Given the description of an element on the screen output the (x, y) to click on. 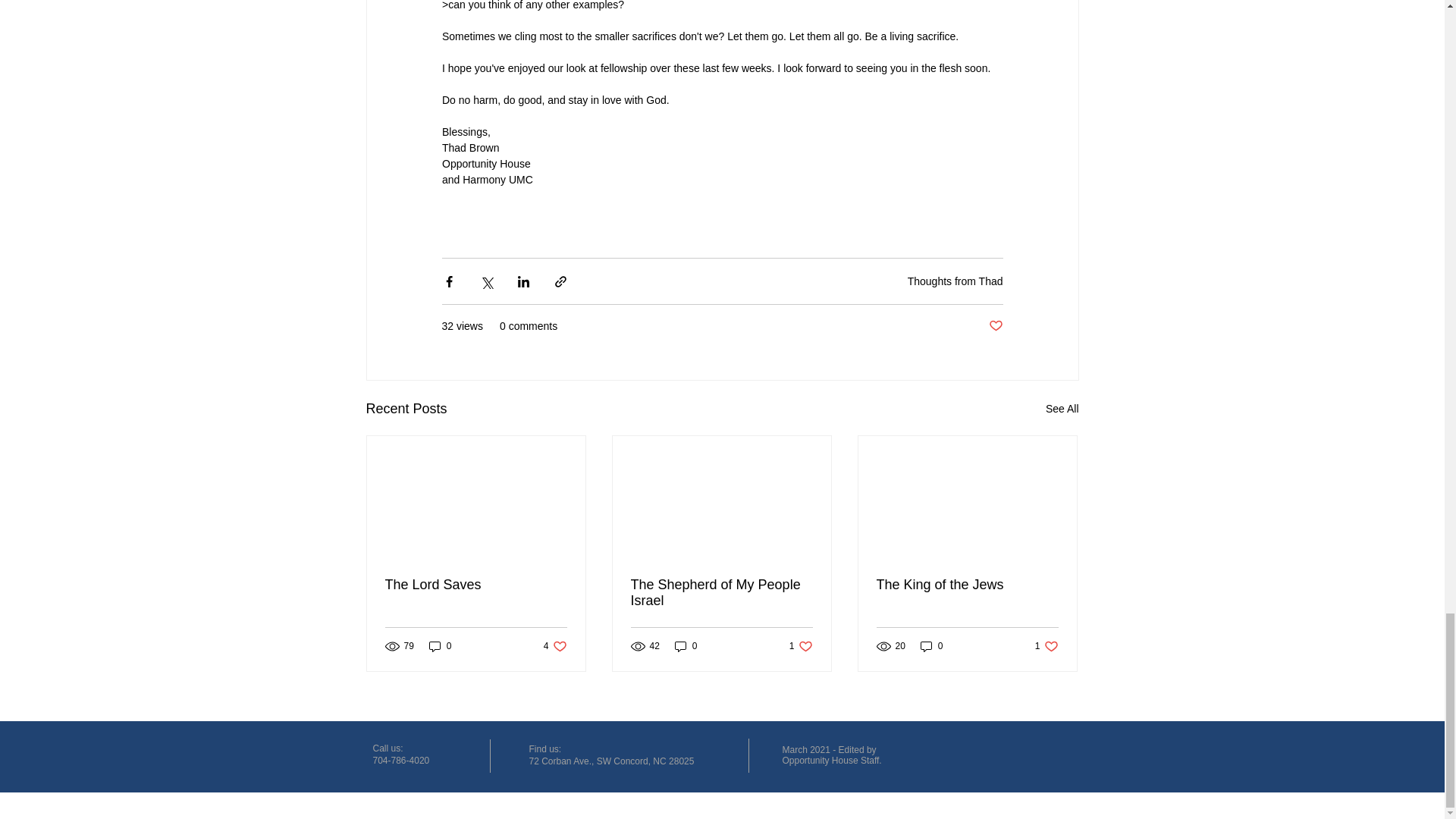
0 (800, 646)
The Lord Saves (440, 646)
The Shepherd of My People Israel (476, 584)
0 (1046, 646)
The King of the Jews (721, 593)
Post not marked as liked (931, 646)
See All (967, 584)
0 (995, 326)
Thoughts from Thad (1061, 409)
